Given the description of an element on the screen output the (x, y) to click on. 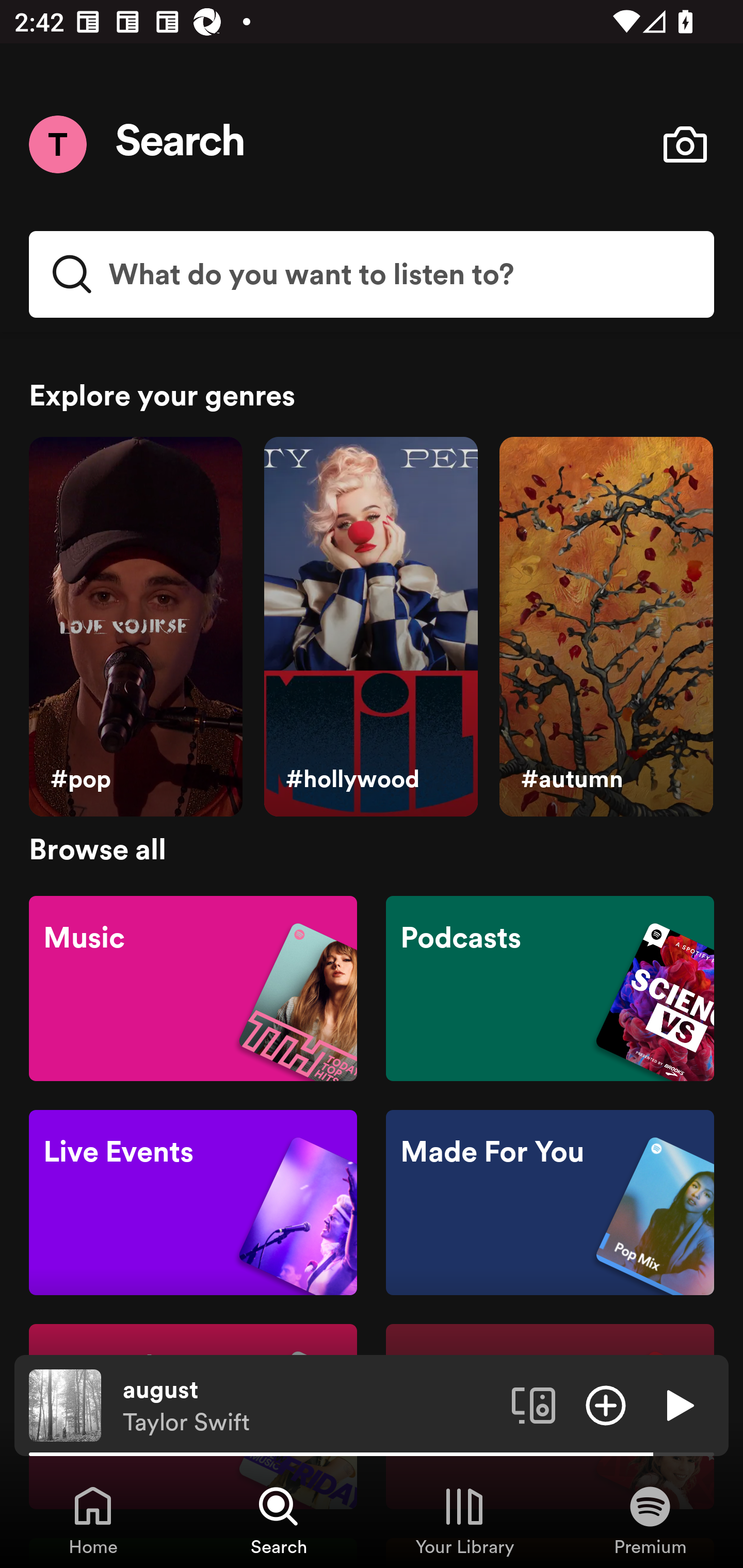
Menu (57, 144)
Open camera (685, 145)
Search (180, 144)
#pop (135, 626)
#hollywood (370, 626)
#autumn (606, 626)
Music (192, 987)
Podcasts (549, 987)
Live Events (192, 1202)
Made For You (549, 1202)
august Taylor Swift (309, 1405)
The cover art of the currently playing track (64, 1404)
Connect to a device. Opens the devices menu (533, 1404)
Add item (605, 1404)
Play (677, 1404)
Home, Tab 1 of 4 Home Home (92, 1519)
Search, Tab 2 of 4 Search Search (278, 1519)
Your Library, Tab 3 of 4 Your Library Your Library (464, 1519)
Premium, Tab 4 of 4 Premium Premium (650, 1519)
